Given the description of an element on the screen output the (x, y) to click on. 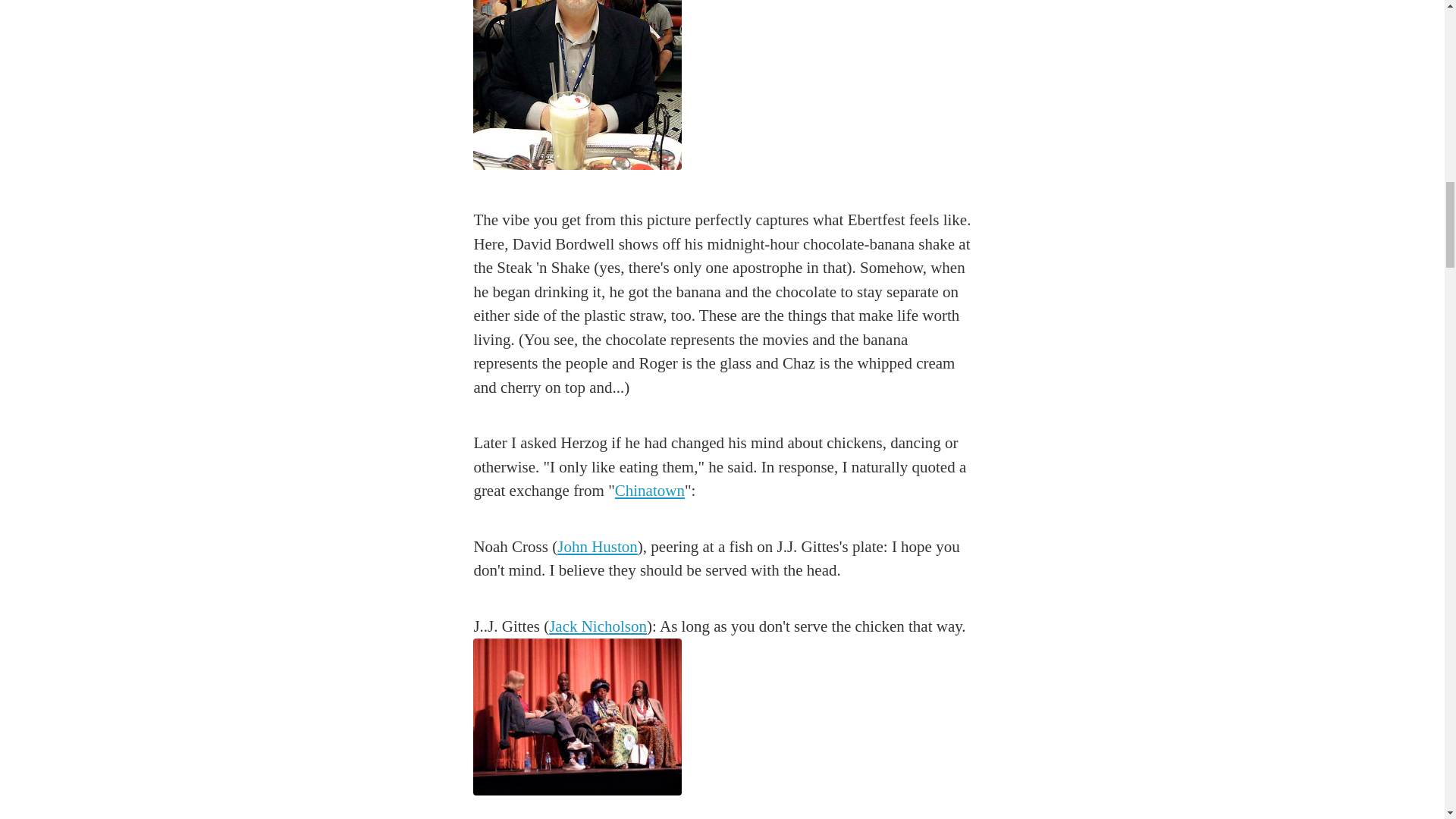
Chinatown (649, 490)
Jack Nicholson (597, 626)
John Huston (597, 546)
